Given the description of an element on the screen output the (x, y) to click on. 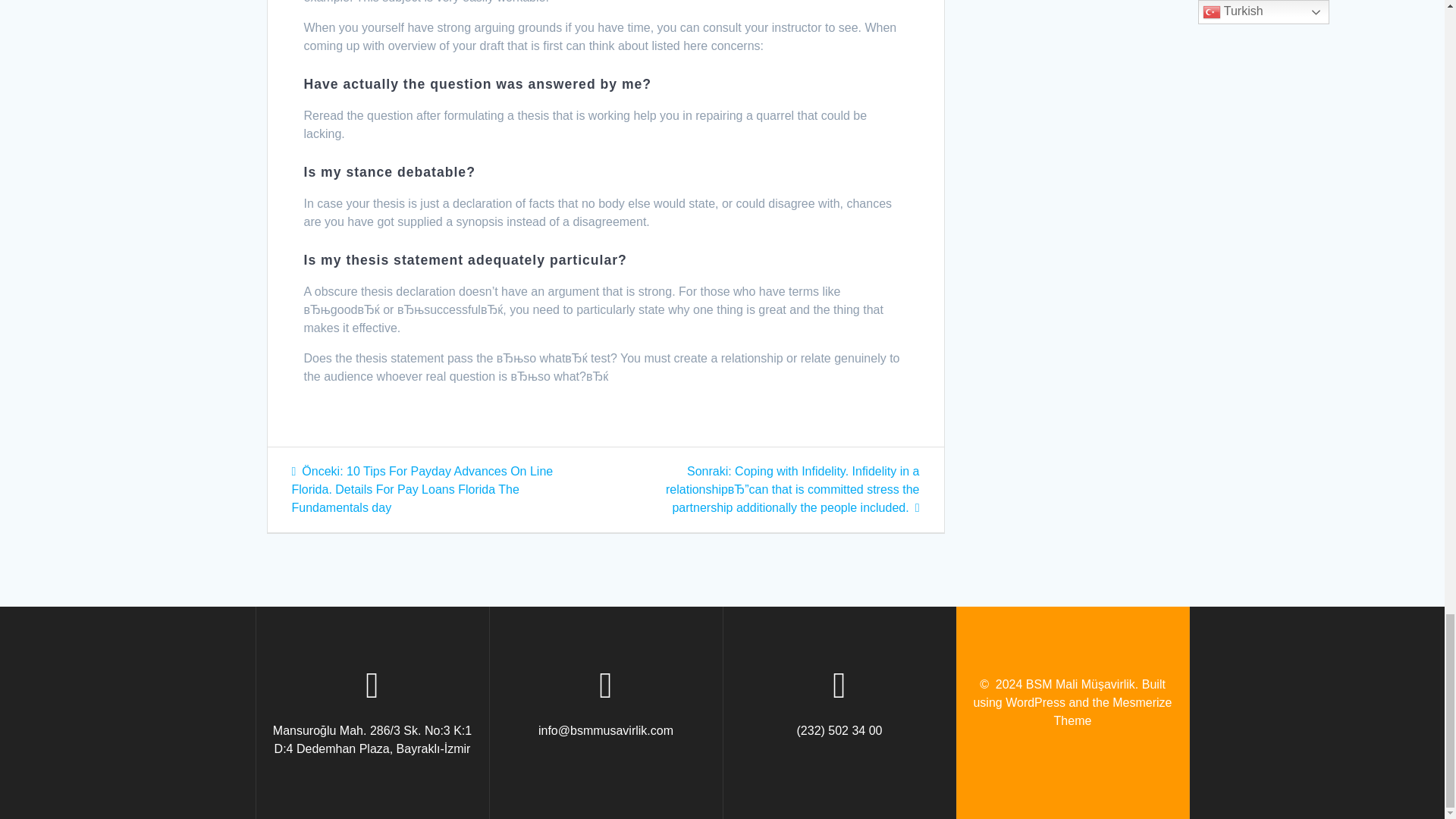
Mesmerize Theme (1113, 711)
